Given the description of an element on the screen output the (x, y) to click on. 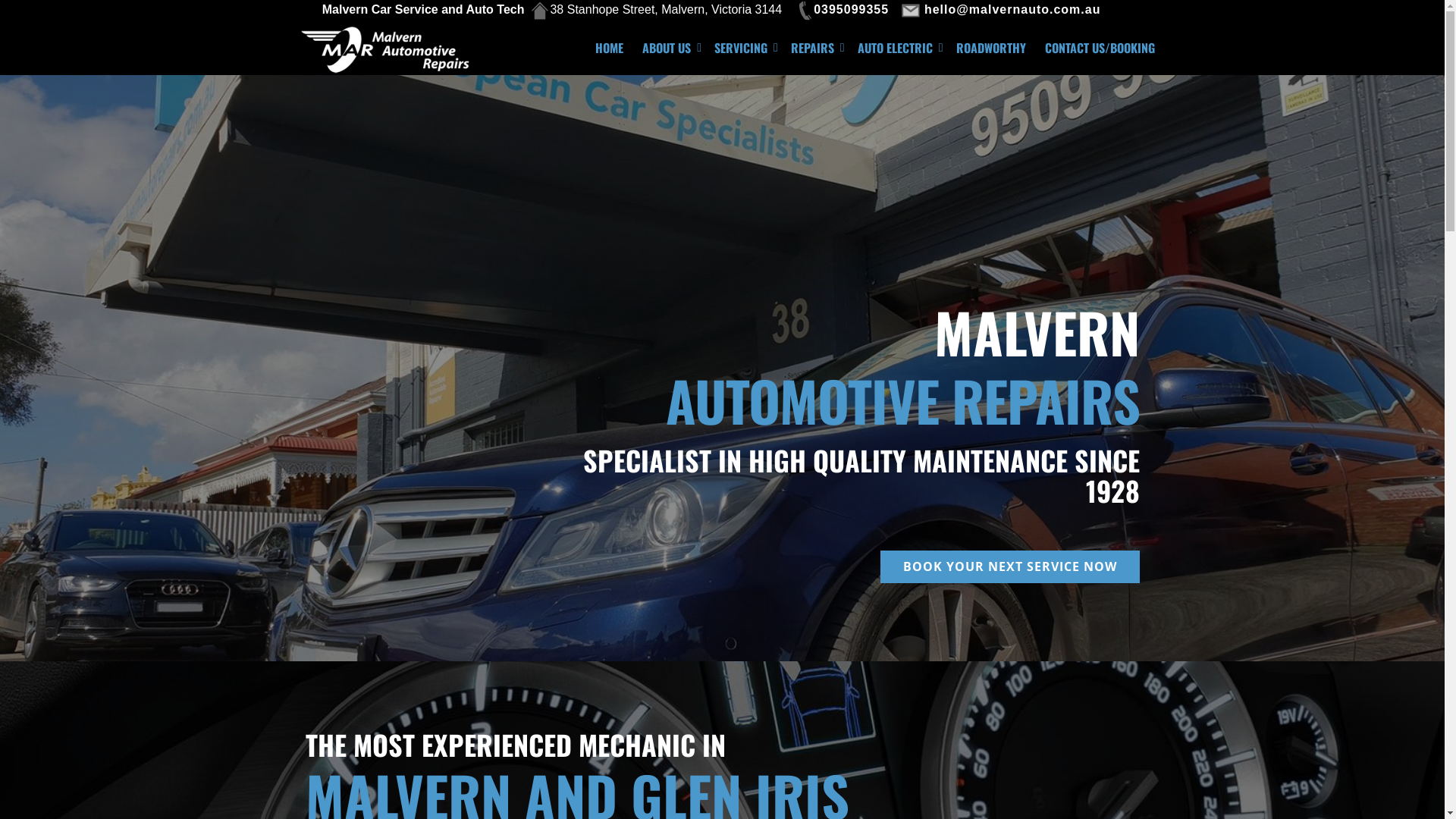
ABOUT US Element type: text (668, 47)
BOOK YOUR NEXT SERVICE NOW Element type: text (1009, 566)
hello@malvernauto.com.au Element type: text (1002, 9)
0395099355 Element type: text (840, 9)
ROADWORTHY Element type: text (990, 47)
REPAIRS Element type: text (814, 47)
AUTO ELECTRIC Element type: text (897, 47)
HOME Element type: text (609, 47)
SERVICING Element type: text (742, 47)
CONTACT US/BOOKING Element type: text (1099, 47)
